Given the description of an element on the screen output the (x, y) to click on. 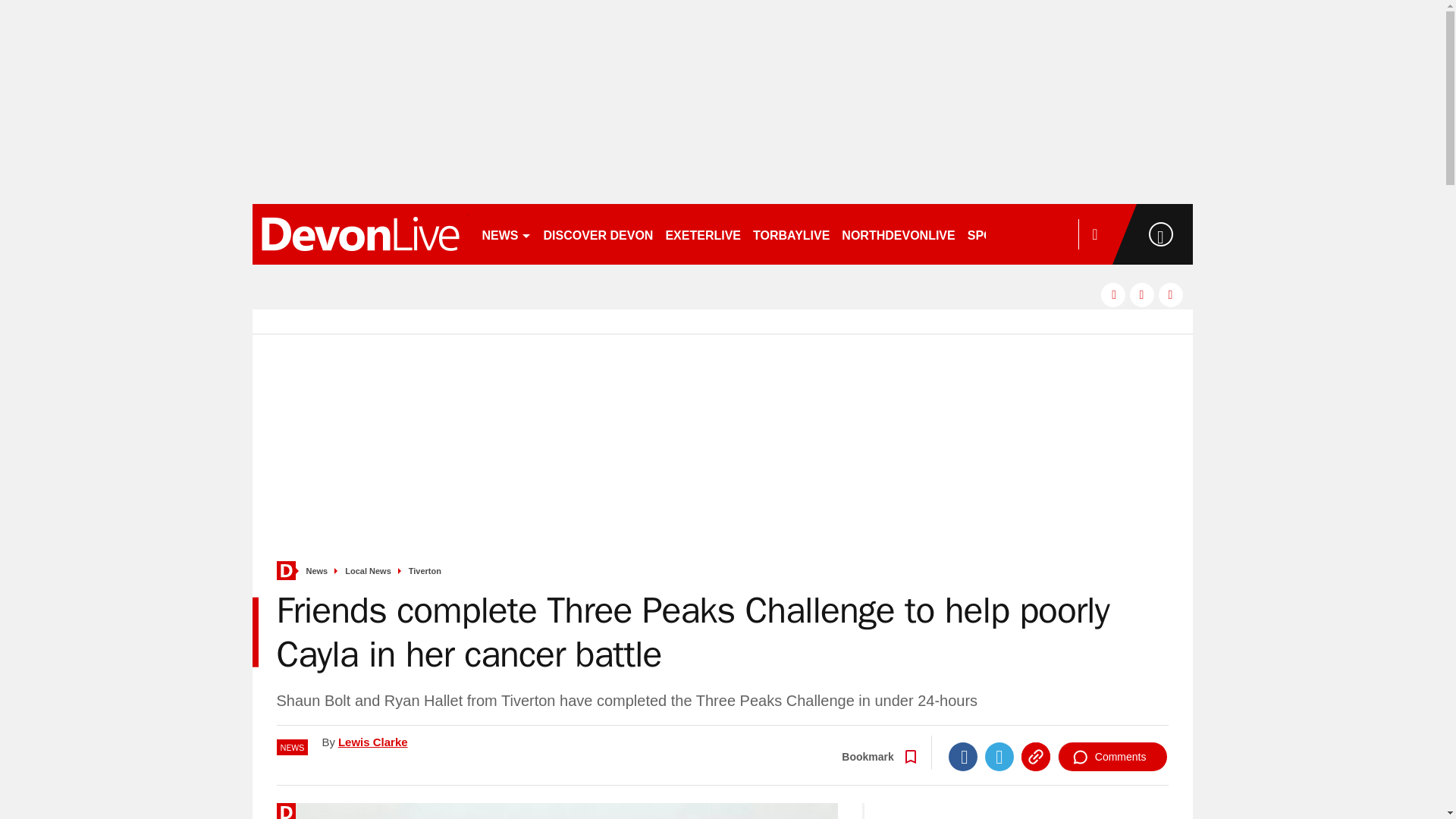
instagram (1170, 294)
facebook (1112, 294)
DISCOVER DEVON (598, 233)
SPORT (993, 233)
NORTHDEVONLIVE (897, 233)
NEWS (506, 233)
twitter (1141, 294)
devonlive (359, 233)
Facebook (962, 756)
Comments (1112, 756)
